Given the description of an element on the screen output the (x, y) to click on. 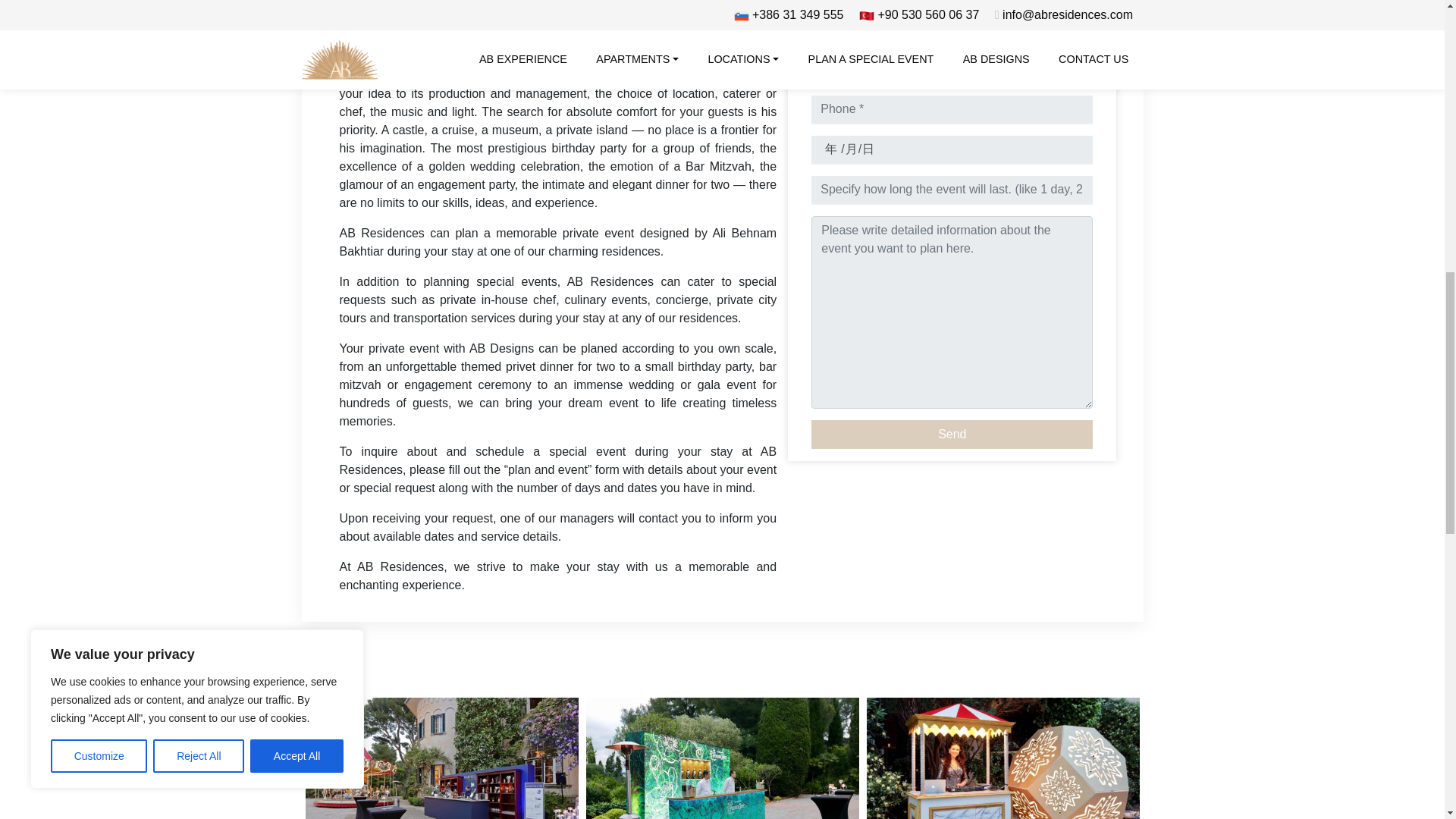
Send (951, 434)
Send (951, 434)
